Given the description of an element on the screen output the (x, y) to click on. 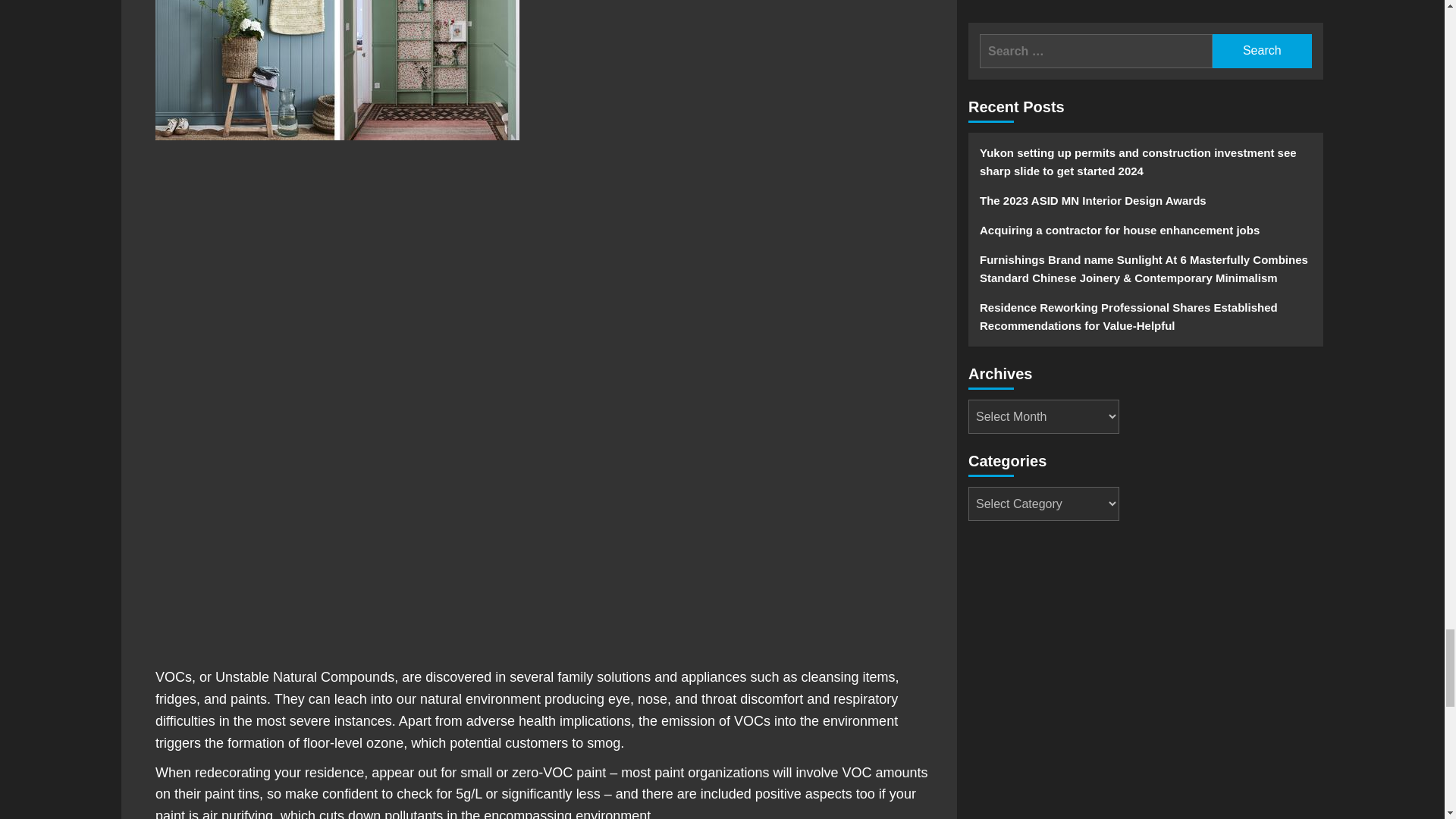
Sustainable home design (337, 70)
